Given the description of an element on the screen output the (x, y) to click on. 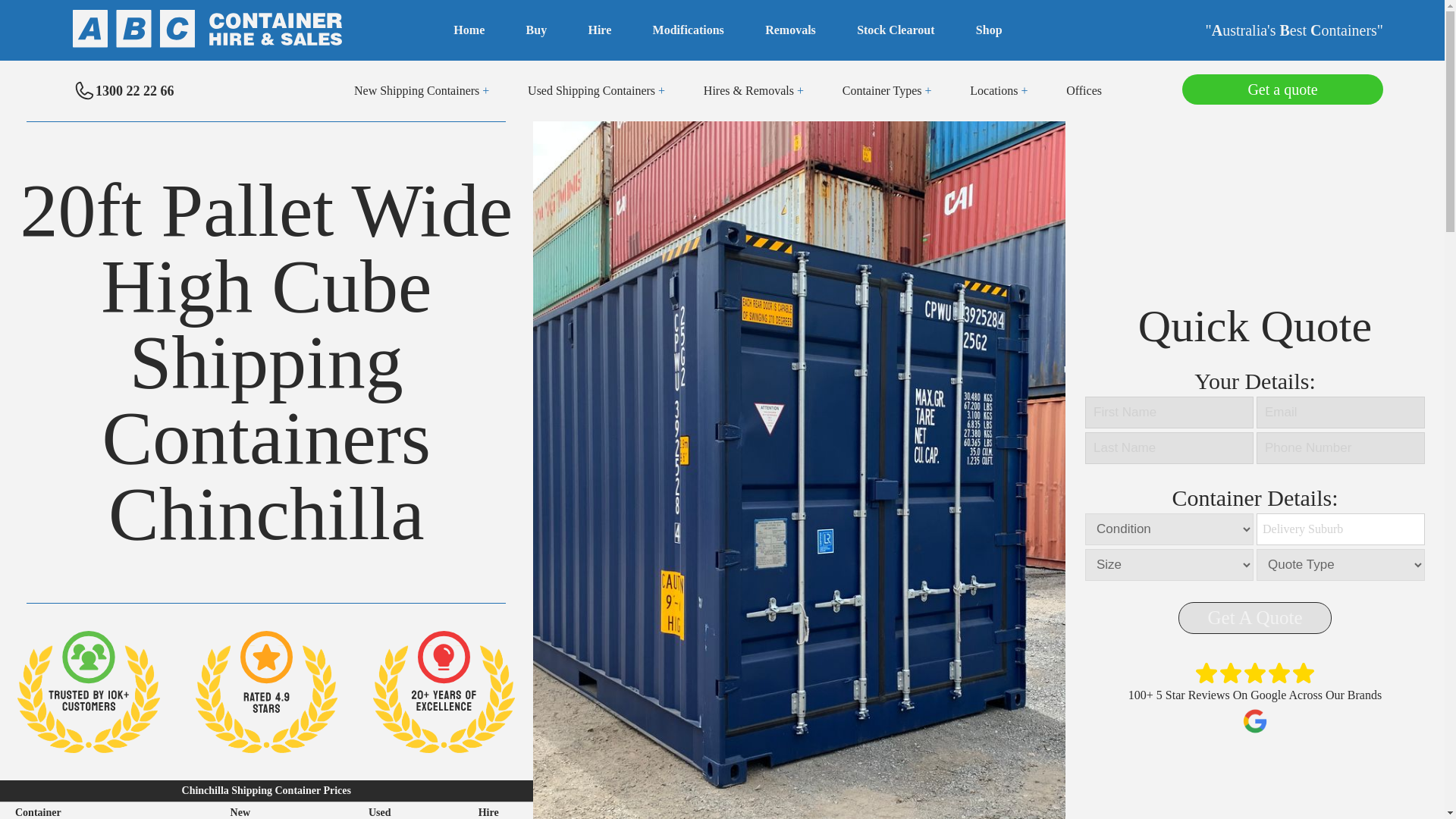
Removals (790, 29)
1300 22 22 66 (123, 90)
Get a quote (1282, 86)
Hire (599, 29)
Buy (536, 29)
Shop (989, 29)
Get A Quote (1254, 617)
Offices (1083, 90)
Home (468, 29)
Modifications (687, 29)
Stock Clearout (895, 29)
Get A Quote (1254, 617)
